Given the description of an element on the screen output the (x, y) to click on. 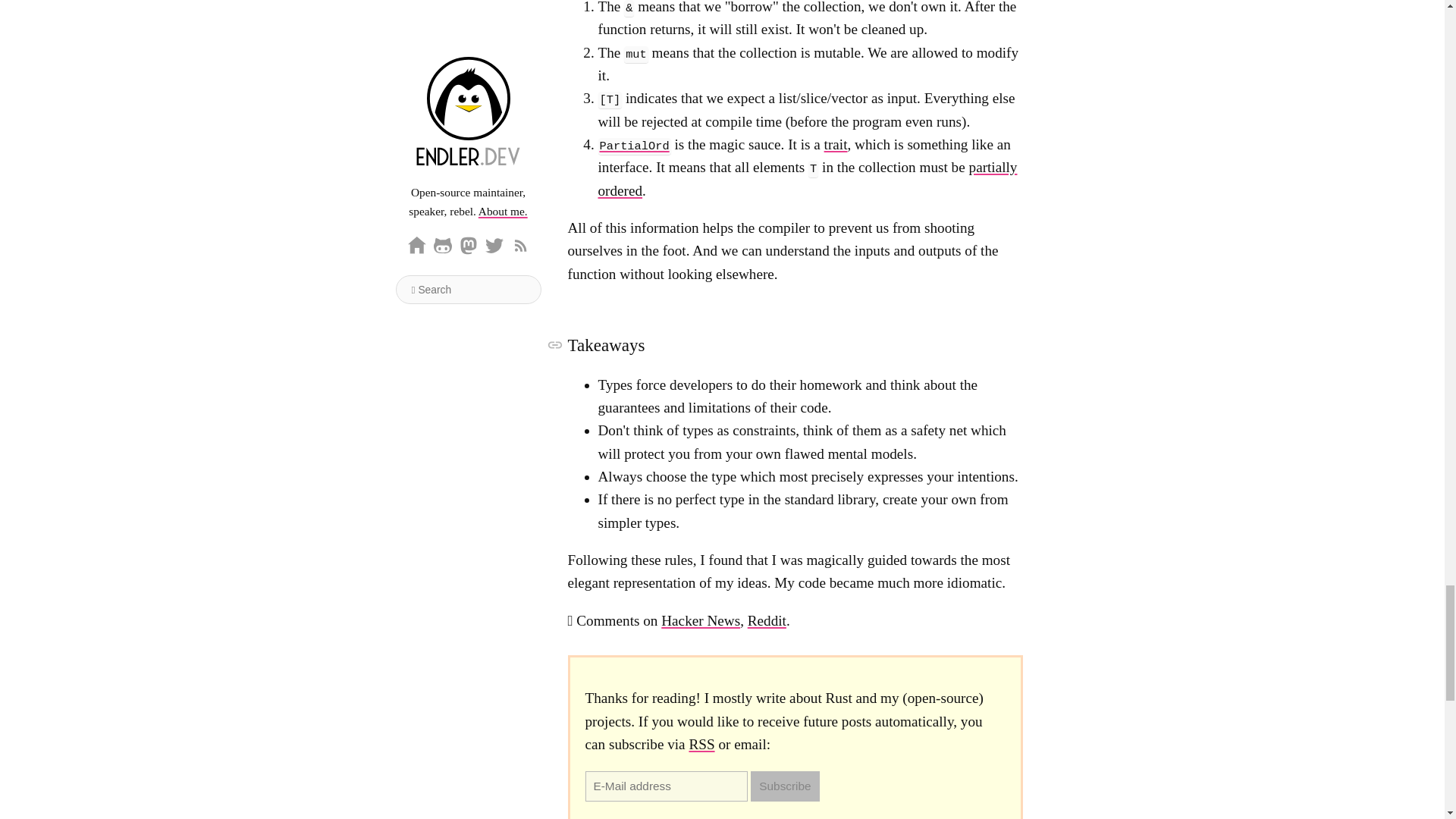
partially ordered (806, 178)
Reddit (767, 620)
Hacker News (700, 620)
Subscribe (784, 786)
trait (835, 144)
PartialOrd (632, 144)
RSS (701, 744)
Subscribe (784, 786)
